Given the description of an element on the screen output the (x, y) to click on. 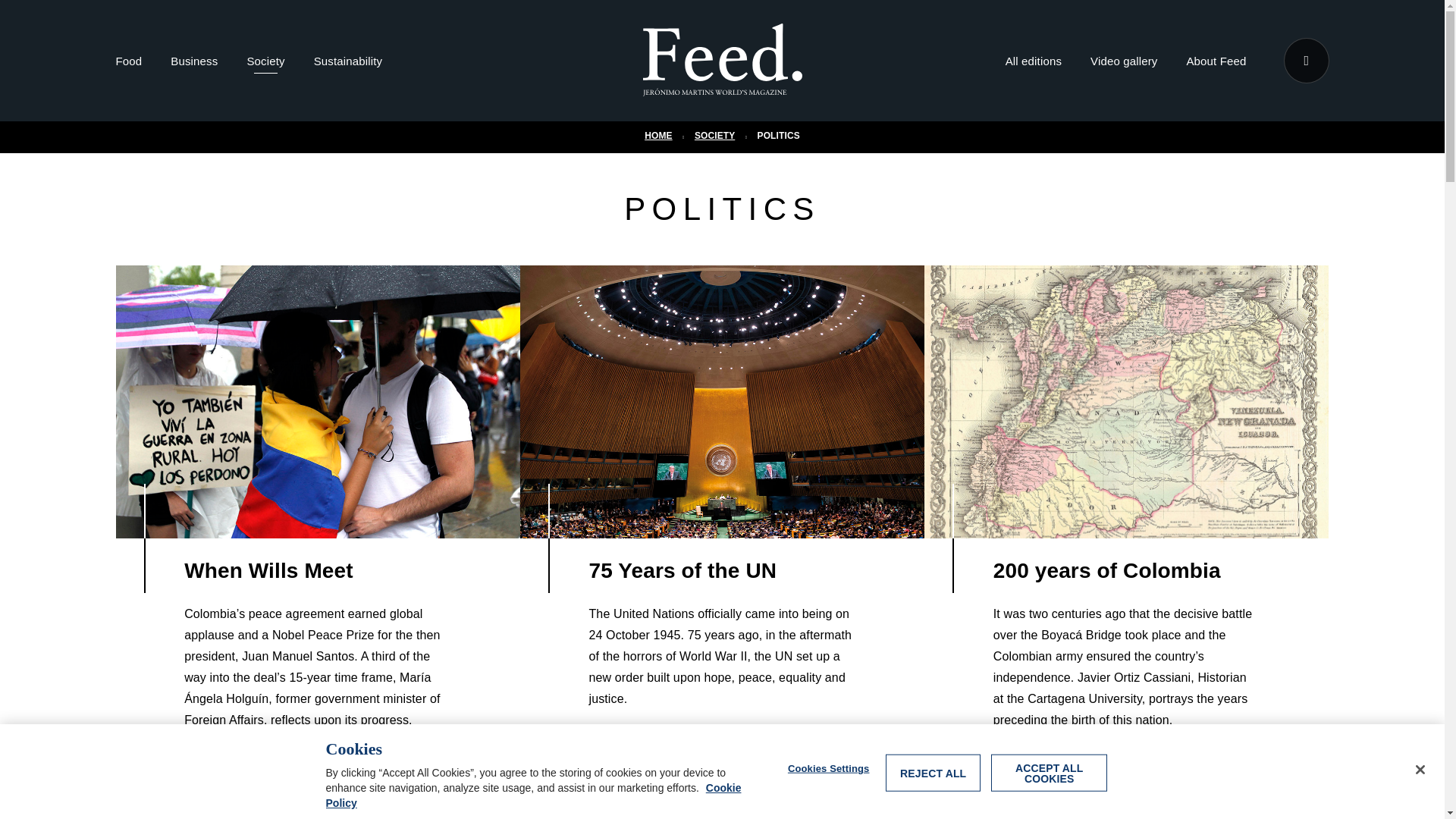
Homepage (722, 60)
Food (128, 63)
The Birth of a Nation (721, 812)
Go to homepage (722, 86)
When Wills Meet (317, 401)
Poles and Independence (1125, 812)
Business (193, 63)
200 years of Colombia (1125, 401)
Two Sides One Way (317, 812)
75 Years of the UN (721, 401)
